Given the description of an element on the screen output the (x, y) to click on. 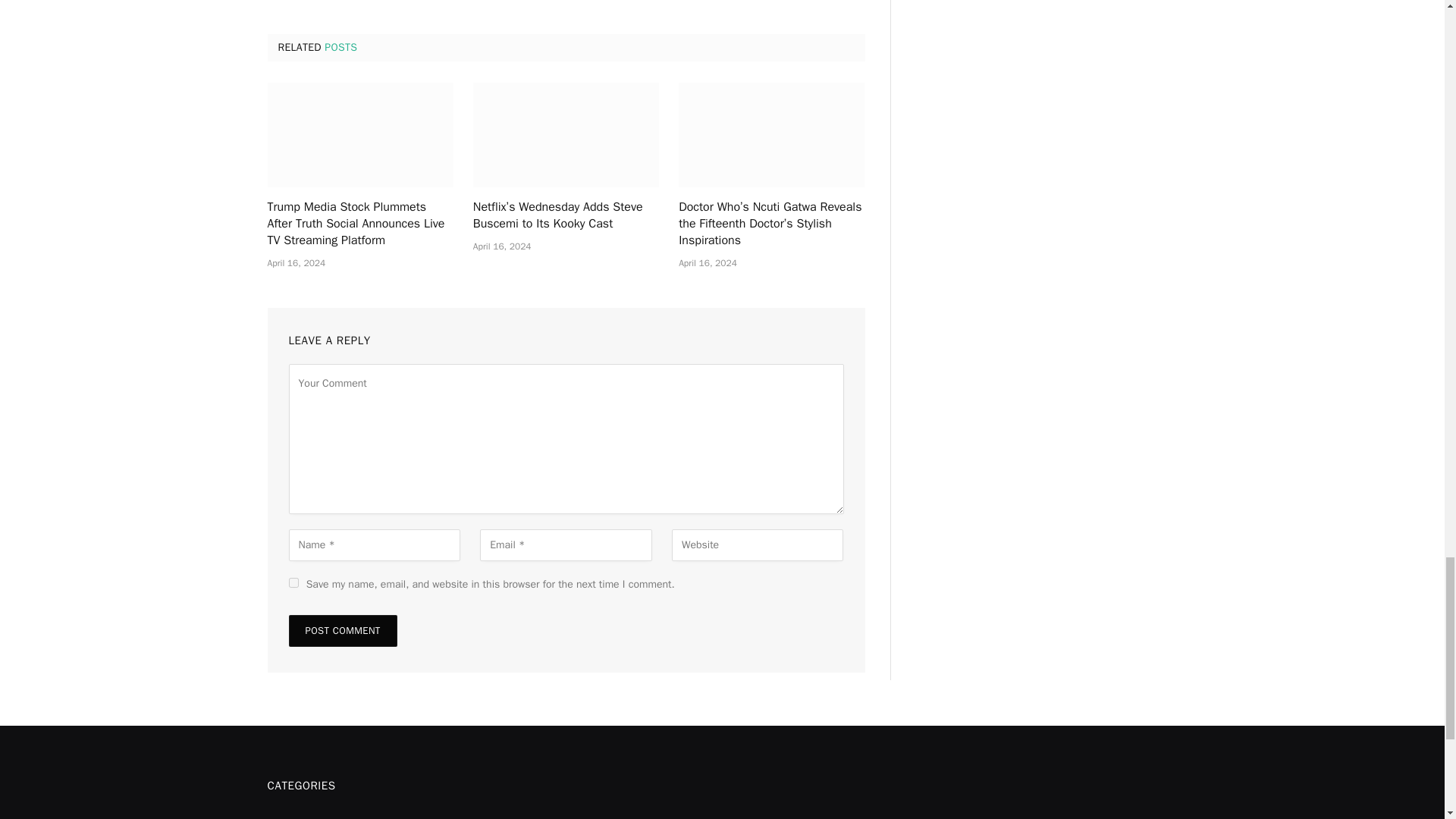
Post Comment (342, 631)
yes (293, 583)
